Given the description of an element on the screen output the (x, y) to click on. 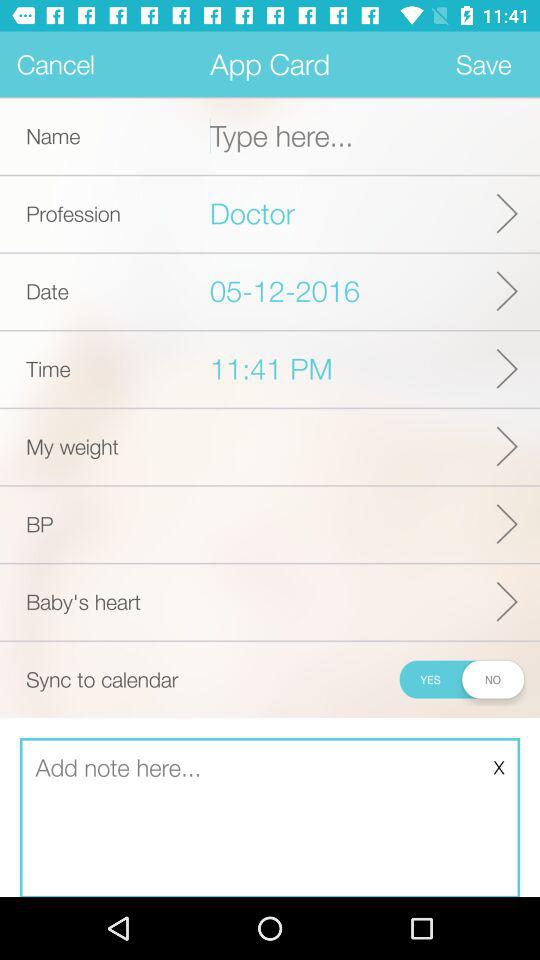
type in the box (269, 817)
